Given the description of an element on the screen output the (x, y) to click on. 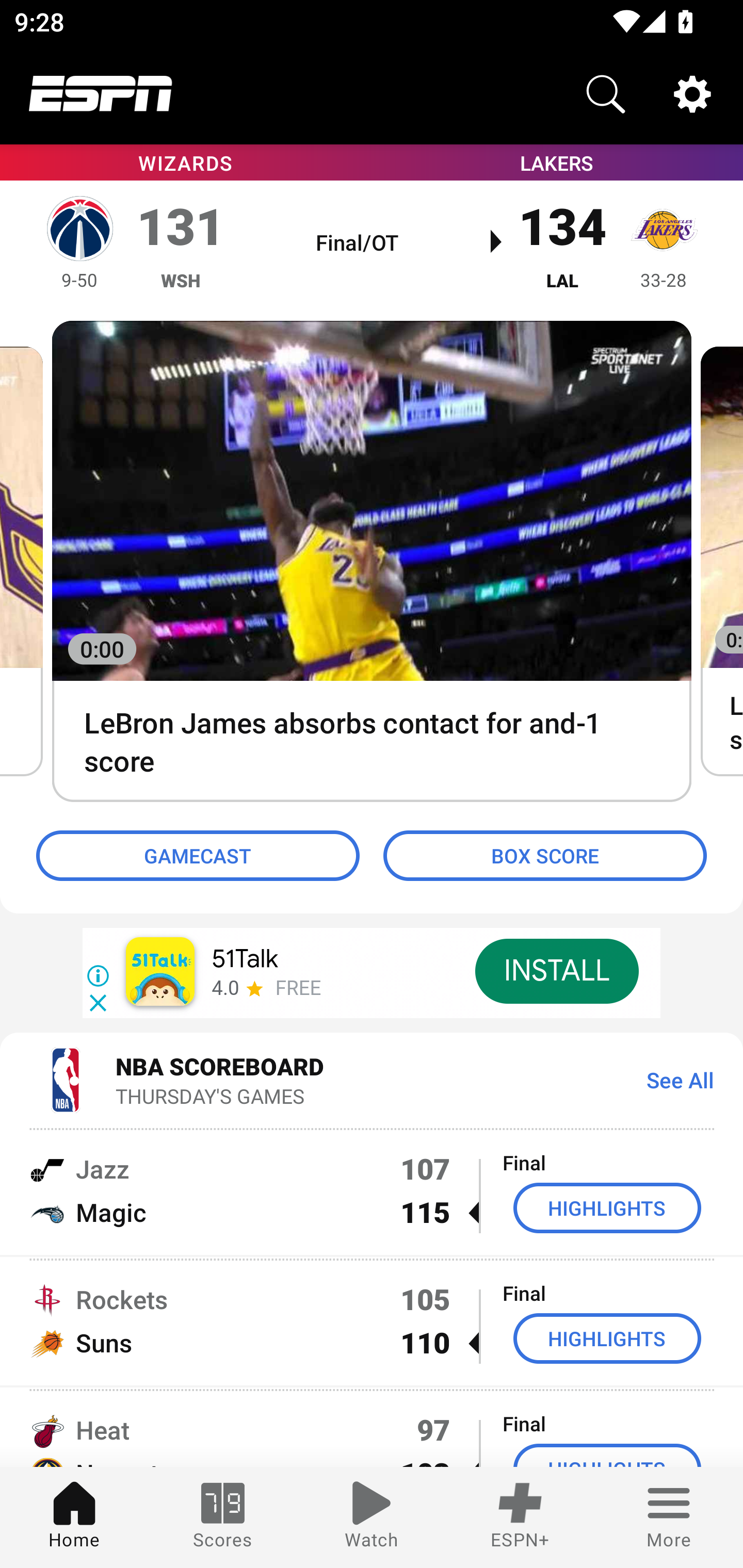
Search (605, 93)
Settings (692, 93)
0:00 LeBron James absorbs contact for and-1 score (371, 561)
GAMECAST (197, 856)
BOX SCORE (544, 856)
INSTALL (556, 971)
51Talk (244, 959)
NBA SCOREBOARD THURSDAY'S GAMES See All (371, 1079)
Jazz 107 Final Magic 115  HIGHLIGHTS (371, 1189)
HIGHLIGHTS (607, 1208)
Rockets 105 Final Suns 110  HIGHLIGHTS (371, 1321)
HIGHLIGHTS (607, 1338)
Heat 97 Final Nuggets 103  HIGHLIGHTS (371, 1427)
Scores (222, 1517)
Watch (371, 1517)
ESPN+ (519, 1517)
More (668, 1517)
